Given the description of an element on the screen output the (x, y) to click on. 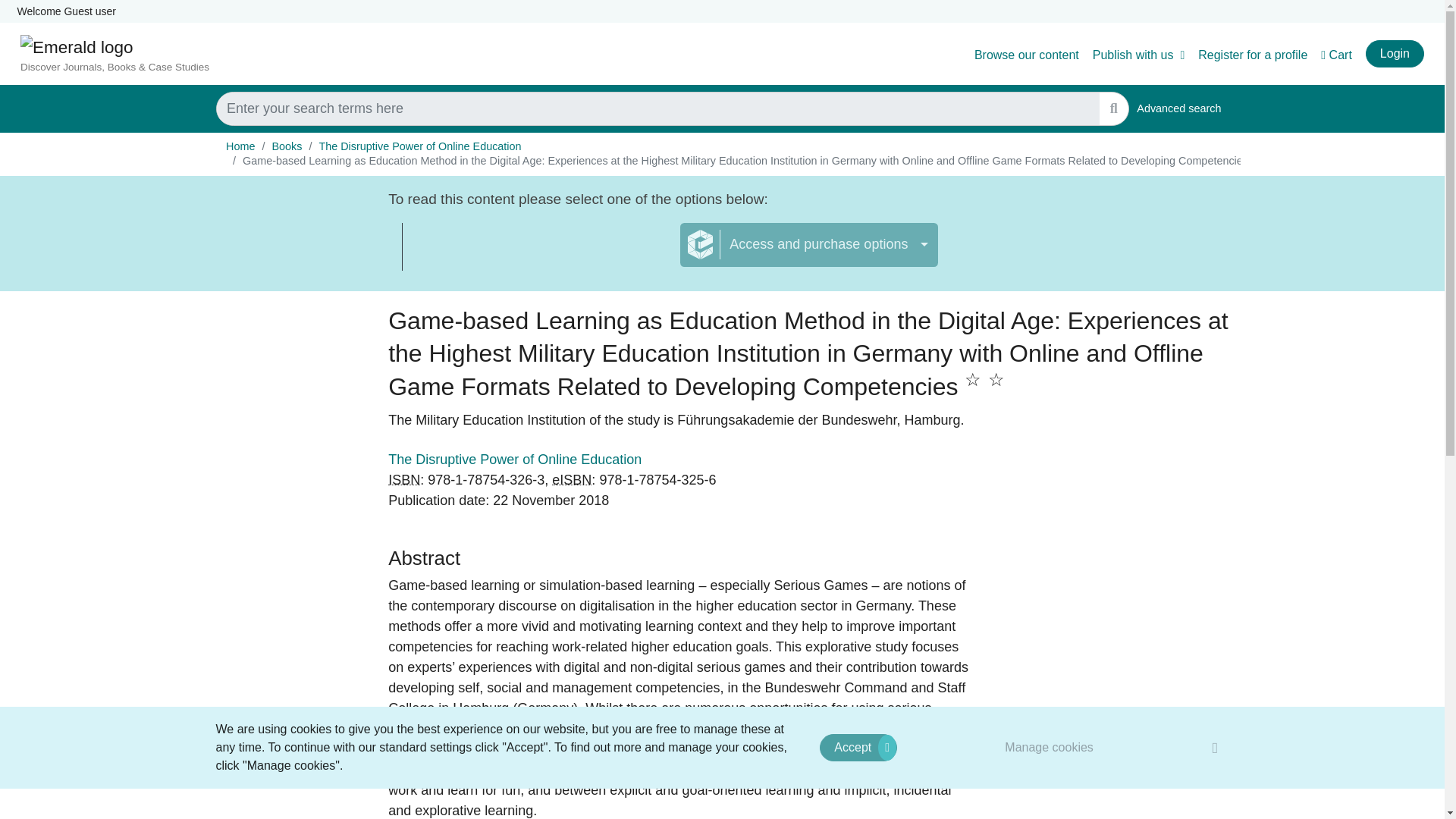
Browse our content (1026, 54)
Manage cookies (1178, 109)
Access through your institution (1049, 747)
The Disruptive Power of Online Education (541, 253)
Register for a profile (419, 146)
International Standard Book Number. (1252, 54)
Login (404, 479)
